Given the description of an element on the screen output the (x, y) to click on. 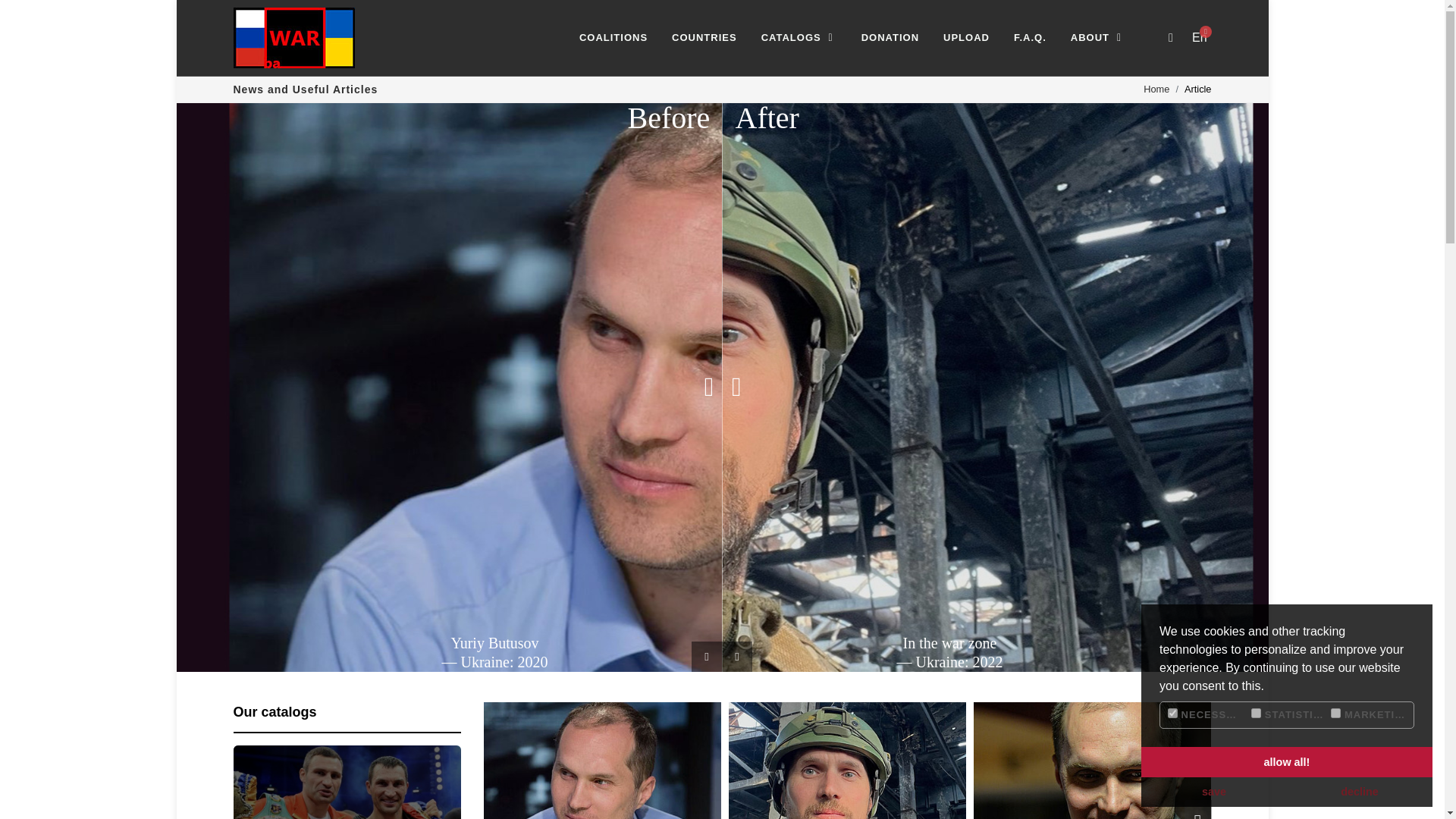
CATALOGS (798, 38)
DONATION (889, 38)
UPLOAD (966, 38)
COUNTRIES (704, 38)
ABOUT (1096, 38)
Before-WAR-After.com (293, 37)
Home (1155, 88)
COALITIONS (612, 38)
En (1198, 38)
